Given the description of an element on the screen output the (x, y) to click on. 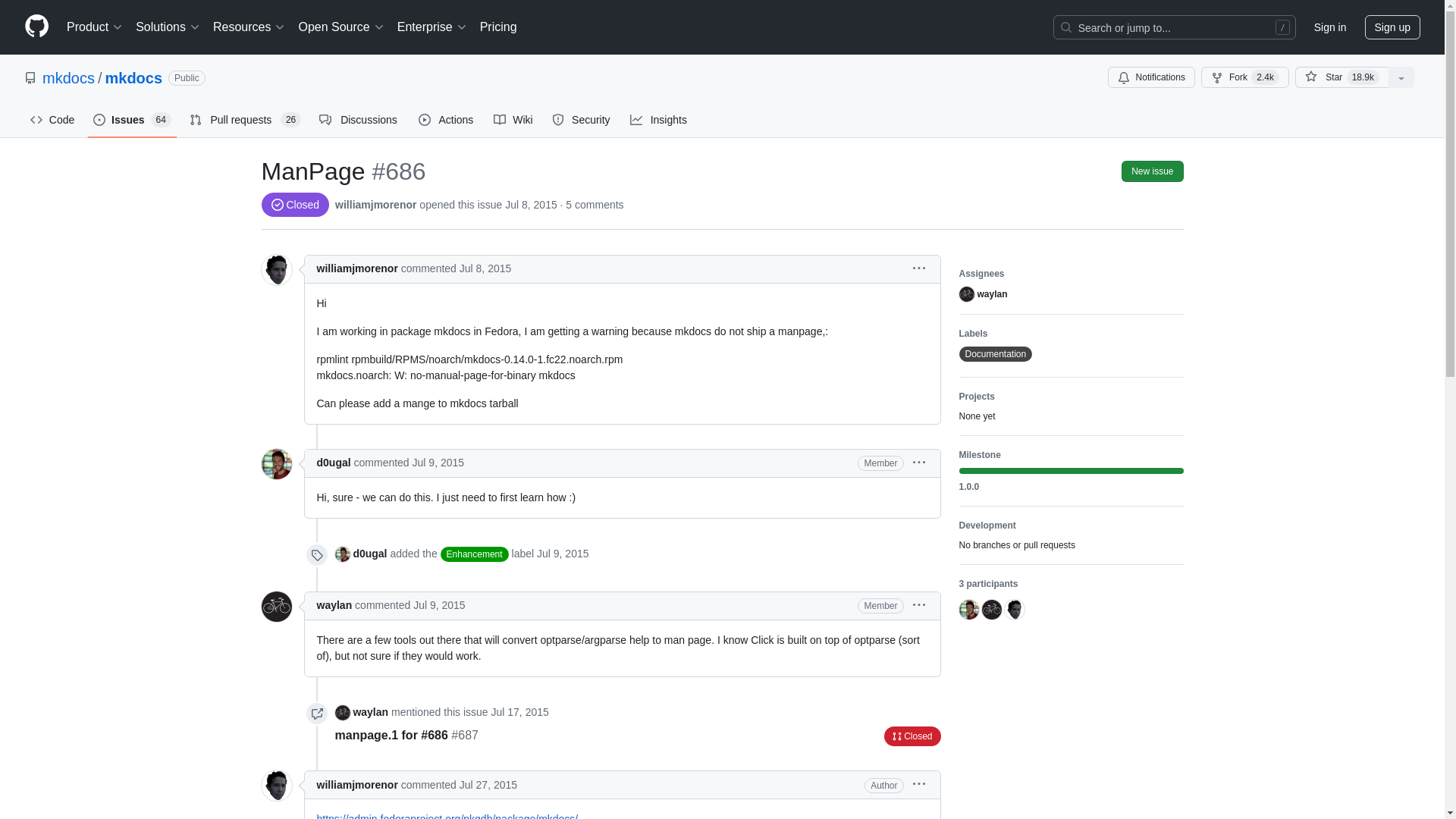
Resources (249, 27)
Solutions (167, 27)
18,904 (1362, 77)
26 (291, 119)
Product (95, 27)
1.0.0 (1070, 486)
Status: Closed (294, 204)
Status: Closed (911, 736)
64 (161, 119)
